Given the description of an element on the screen output the (x, y) to click on. 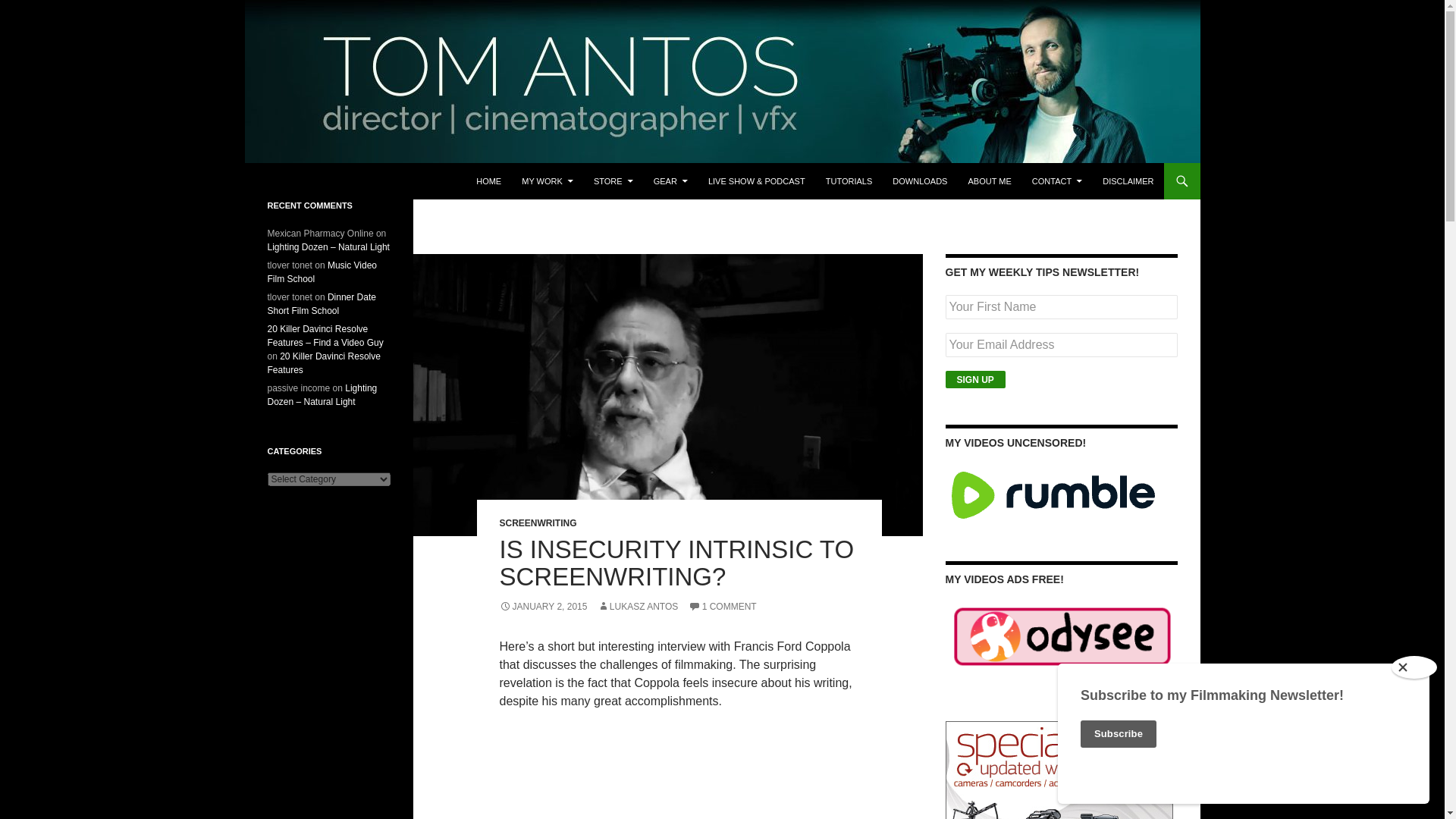
TUTORIALS (849, 180)
My video Ads Free! (1060, 635)
ABOUT ME (989, 180)
STORE (613, 180)
HOME (489, 180)
Sign Up (975, 379)
CONTACT (1056, 180)
DOWNLOADS (919, 180)
GEAR (671, 180)
MY WORK (547, 180)
Tom Antos Films (320, 180)
